Given the description of an element on the screen output the (x, y) to click on. 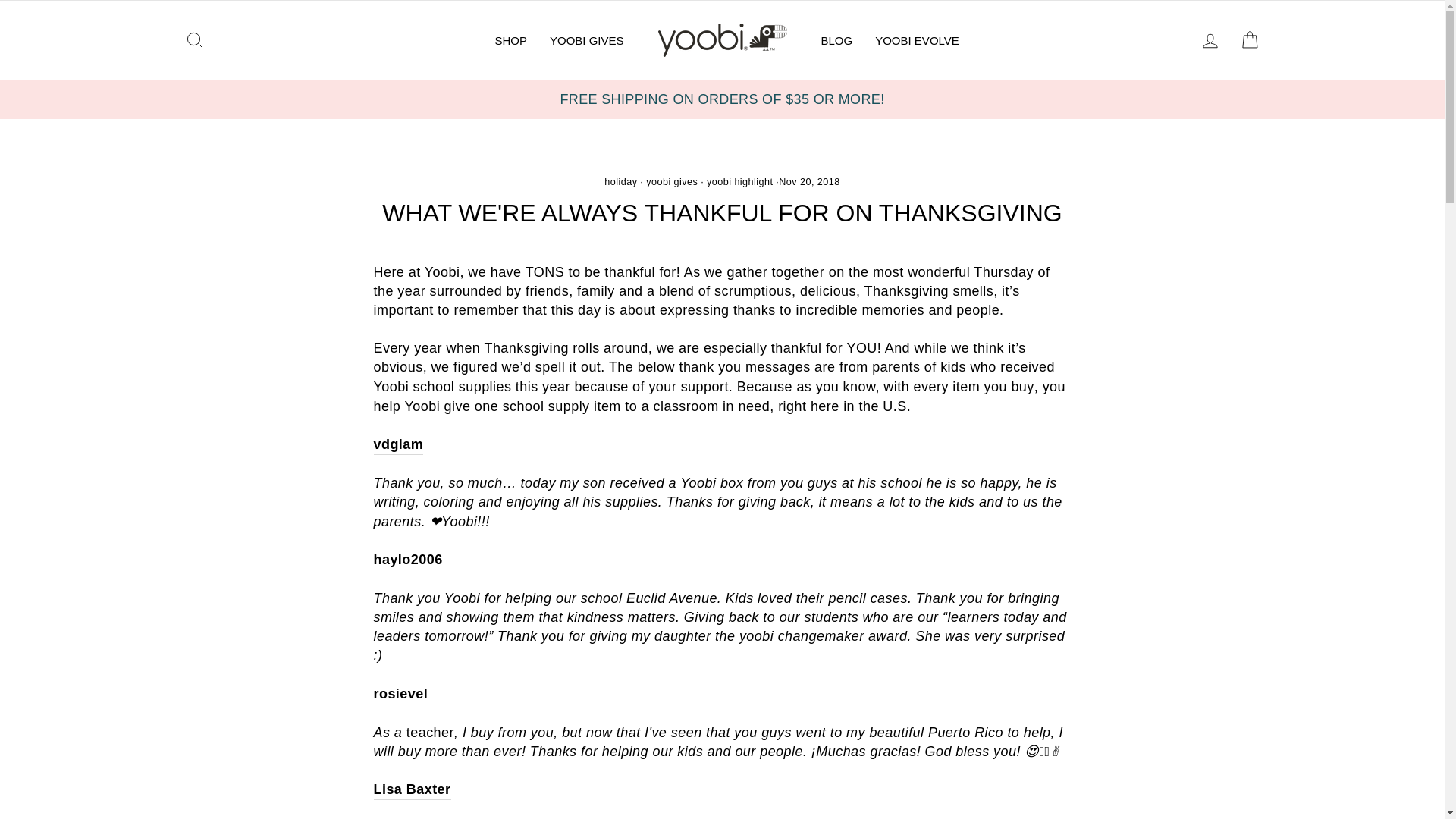
YOOBI EVOLVE (917, 39)
rosievel (400, 694)
BLOG (836, 39)
SEARCH (194, 40)
haylo2006 (407, 560)
SHOP (510, 39)
with every item you buy (958, 387)
yoobi gives (671, 181)
CART (1249, 40)
